Given the description of an element on the screen output the (x, y) to click on. 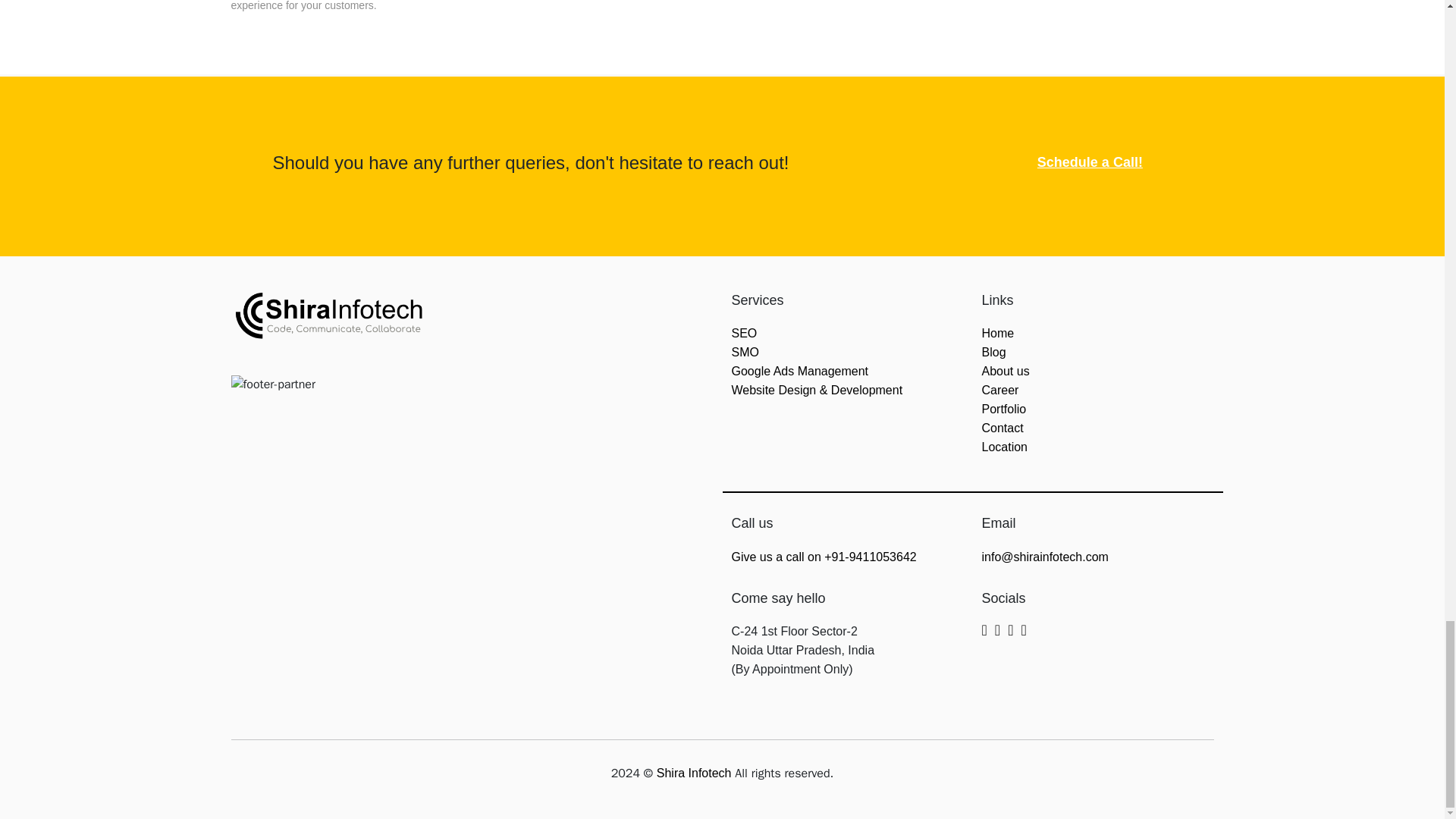
Blog (993, 351)
Contact (1002, 427)
About us (1005, 370)
SEO (743, 332)
Google Ads Management (798, 370)
SMO (744, 351)
Career (999, 390)
Schedule a Call! (1089, 161)
Home (997, 332)
Location (1004, 446)
Portfolio (1003, 408)
